Given the description of an element on the screen output the (x, y) to click on. 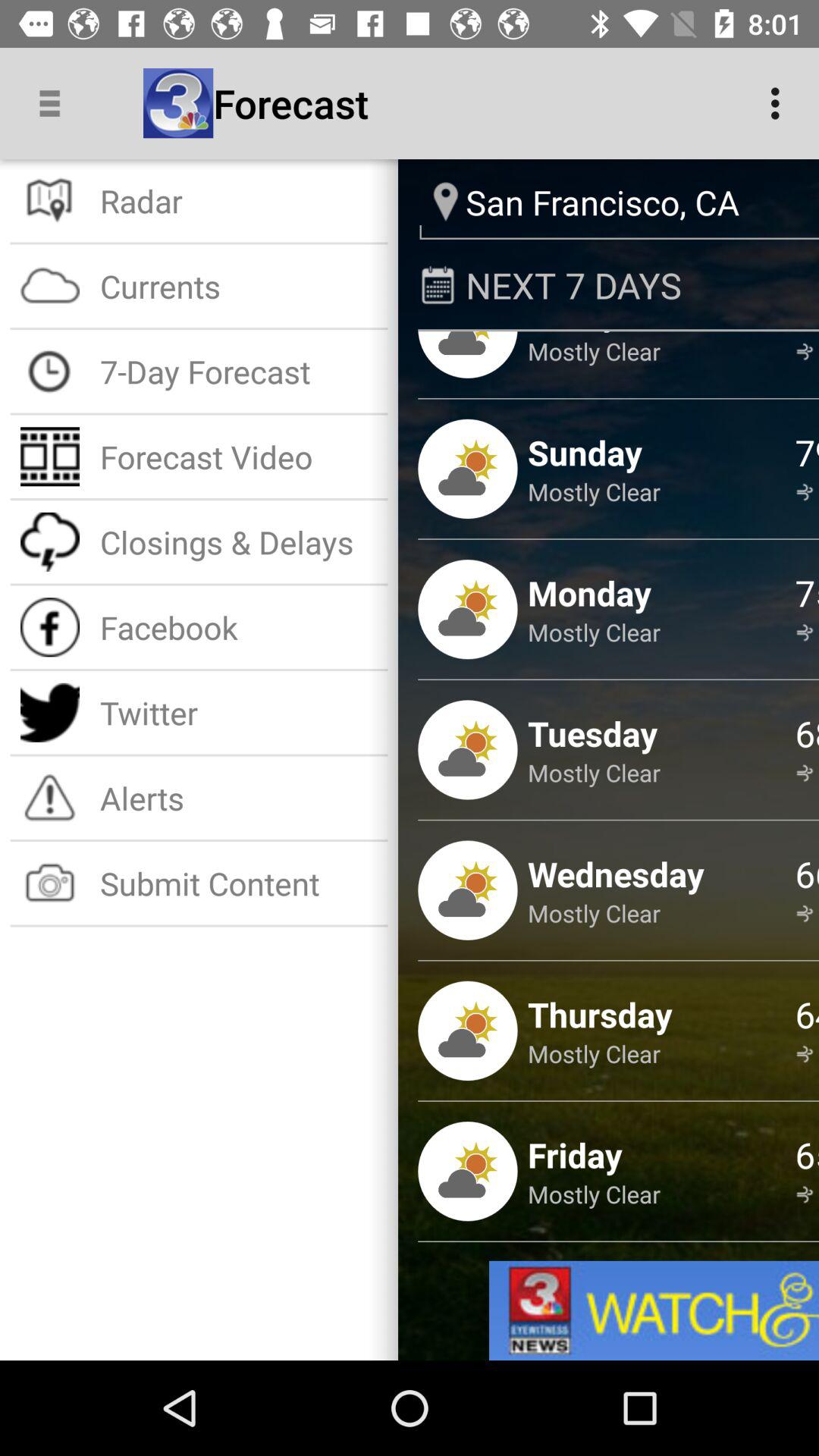
flip to the wednesday (615, 873)
